Given the description of an element on the screen output the (x, y) to click on. 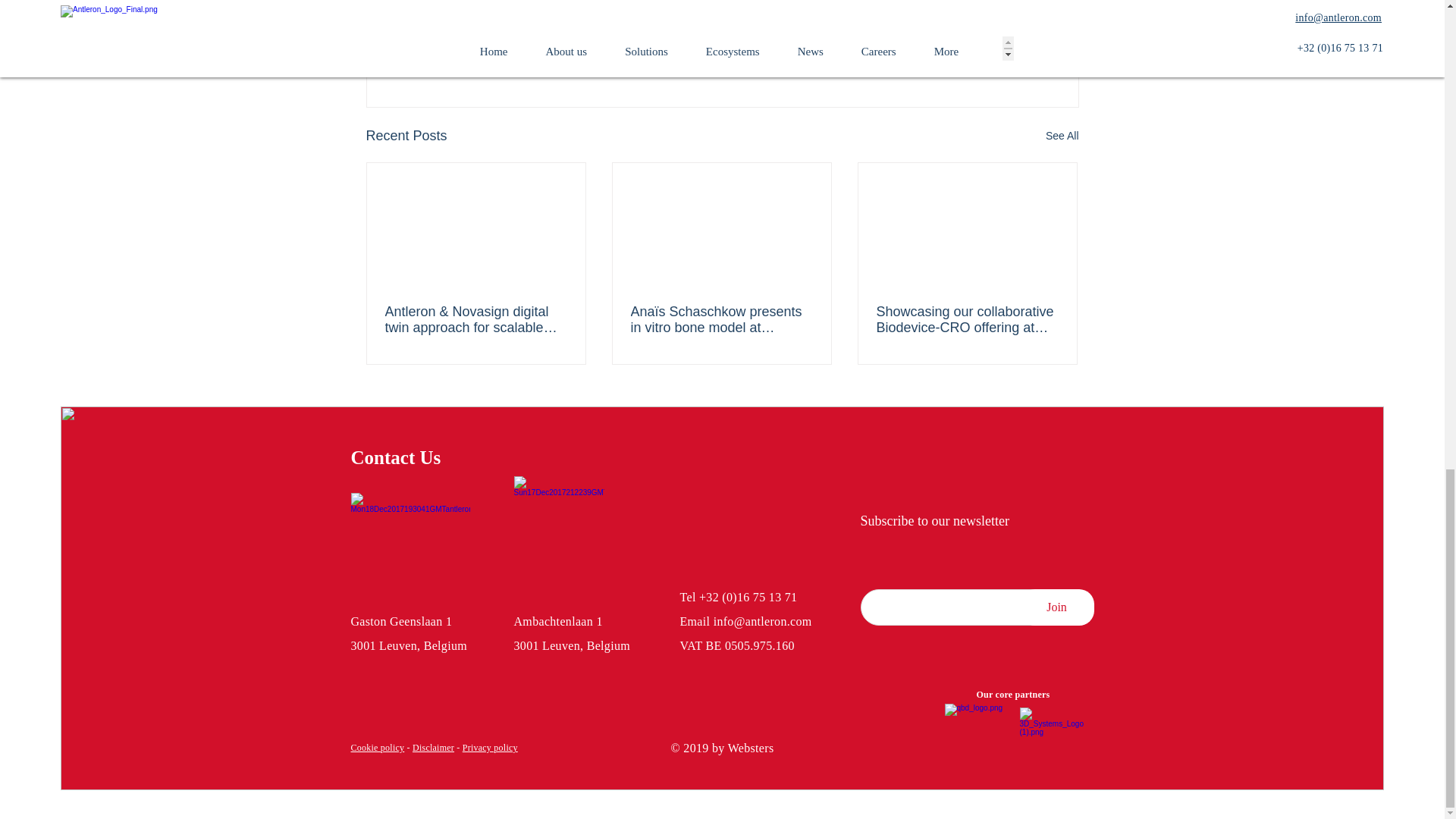
Events (987, 38)
See All (1061, 136)
